Given the description of an element on the screen output the (x, y) to click on. 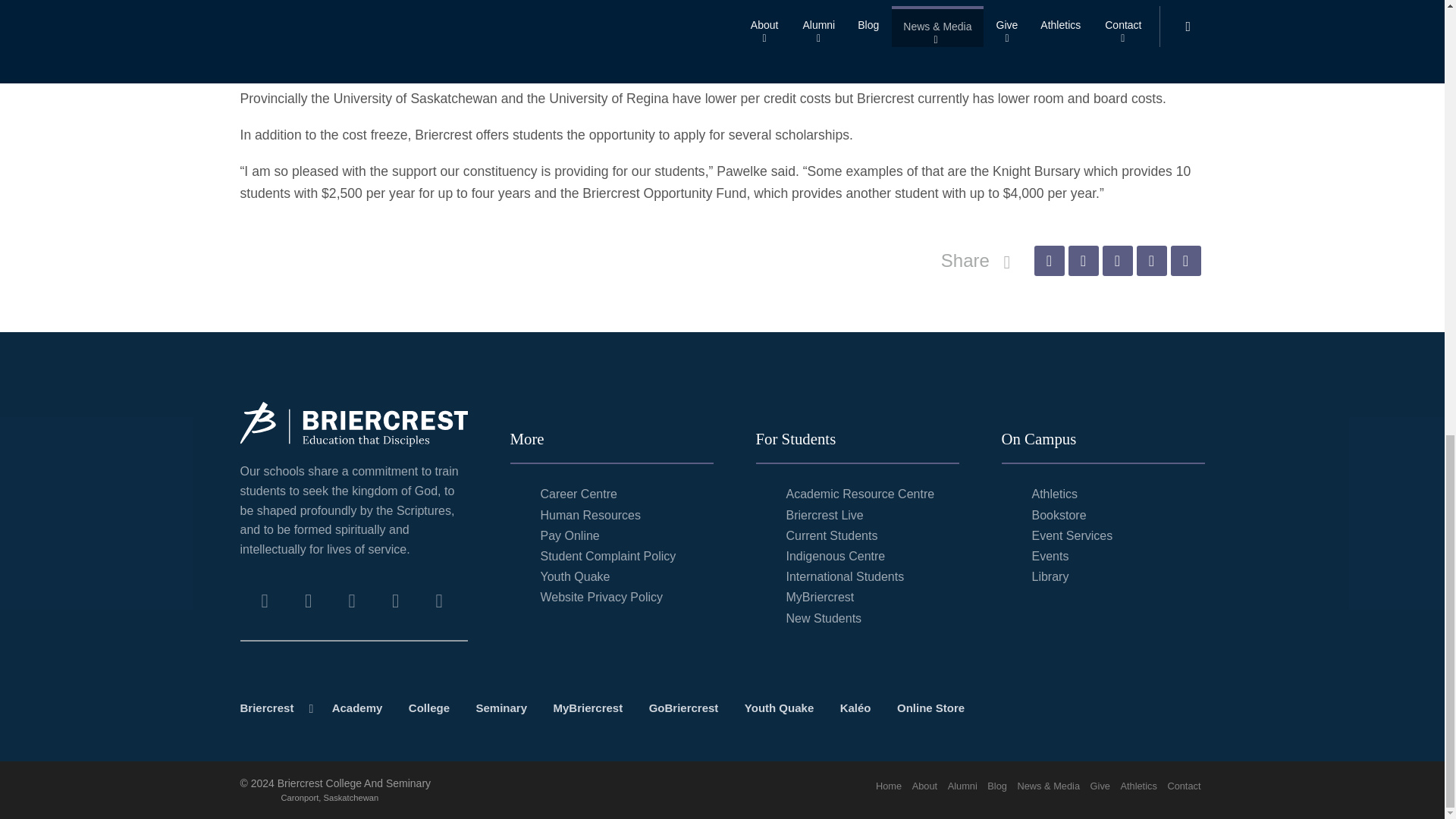
share this to LinkedIn (1150, 260)
share this to Pinterest (1117, 260)
share this to my Facebook page (1048, 260)
share this to my Twitter account (1082, 260)
